Given the description of an element on the screen output the (x, y) to click on. 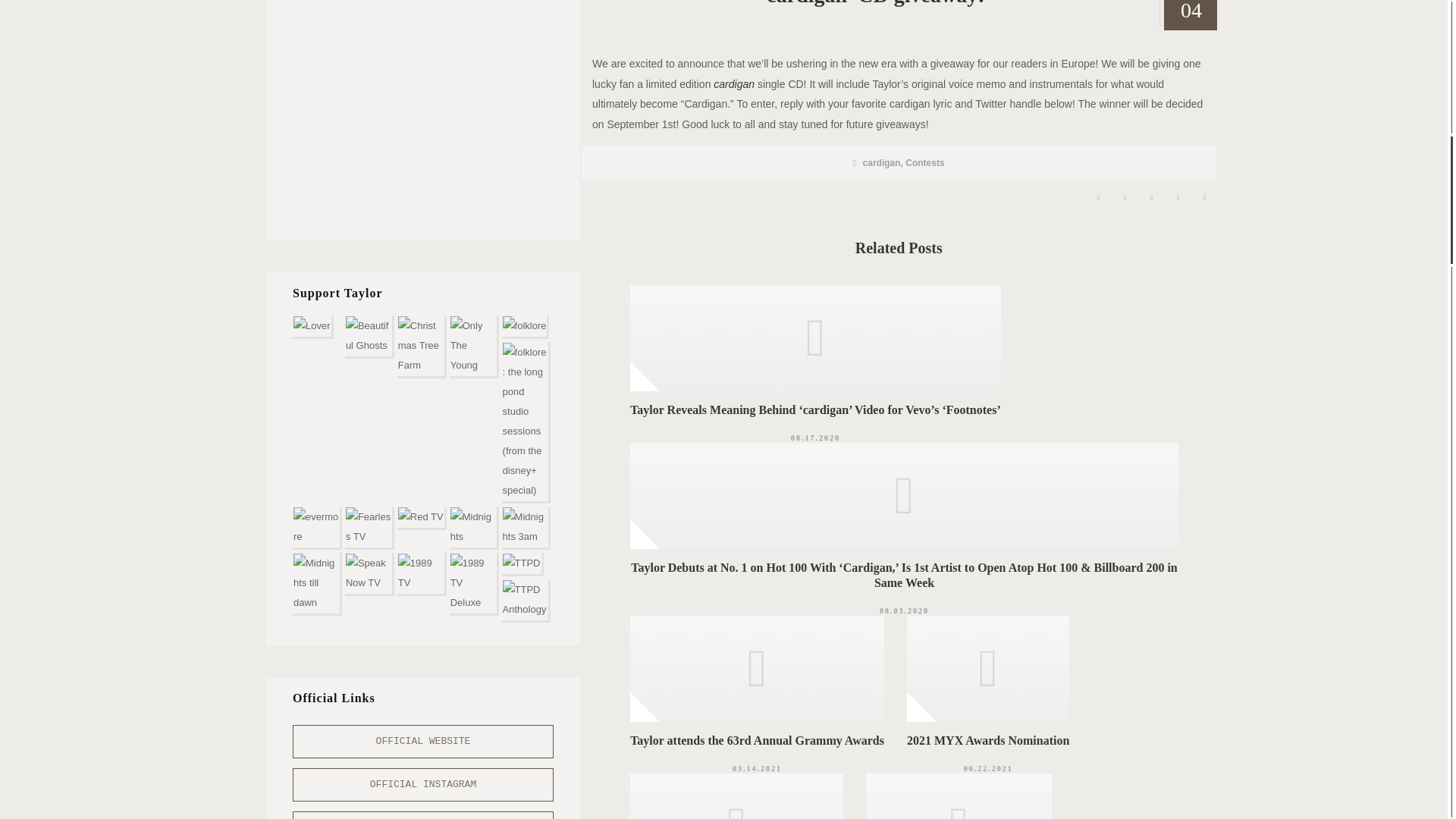
Advertisement (422, 107)
Contests (924, 163)
cardigan (882, 163)
